Given the description of an element on the screen output the (x, y) to click on. 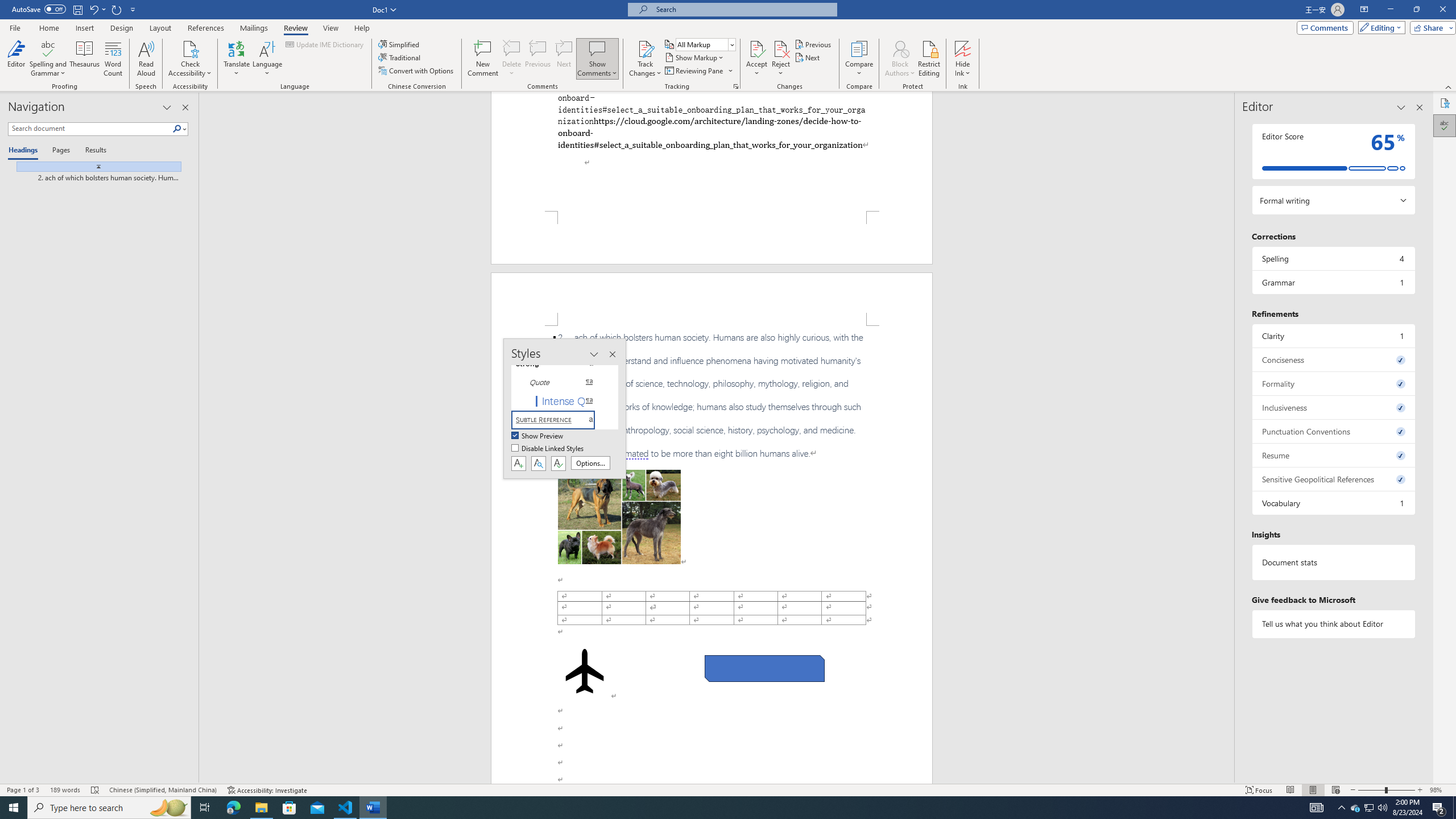
More Options (962, 68)
Class: MsoCommandBar (728, 789)
Repeat Style (117, 9)
Footer -Section 1- (711, 237)
Quick Access Toolbar (74, 9)
Class: NetUIButton (558, 463)
Formality, 0 issues. Press space or enter to review items. (1333, 383)
Vocabulary, 1 issue. Press space or enter to review items. (1333, 502)
Page 2 content (711, 554)
Zoom In (1420, 790)
Header -Section 1- (711, 298)
Delete (511, 58)
Document statistics (1333, 561)
2. (711, 395)
